Given the description of an element on the screen output the (x, y) to click on. 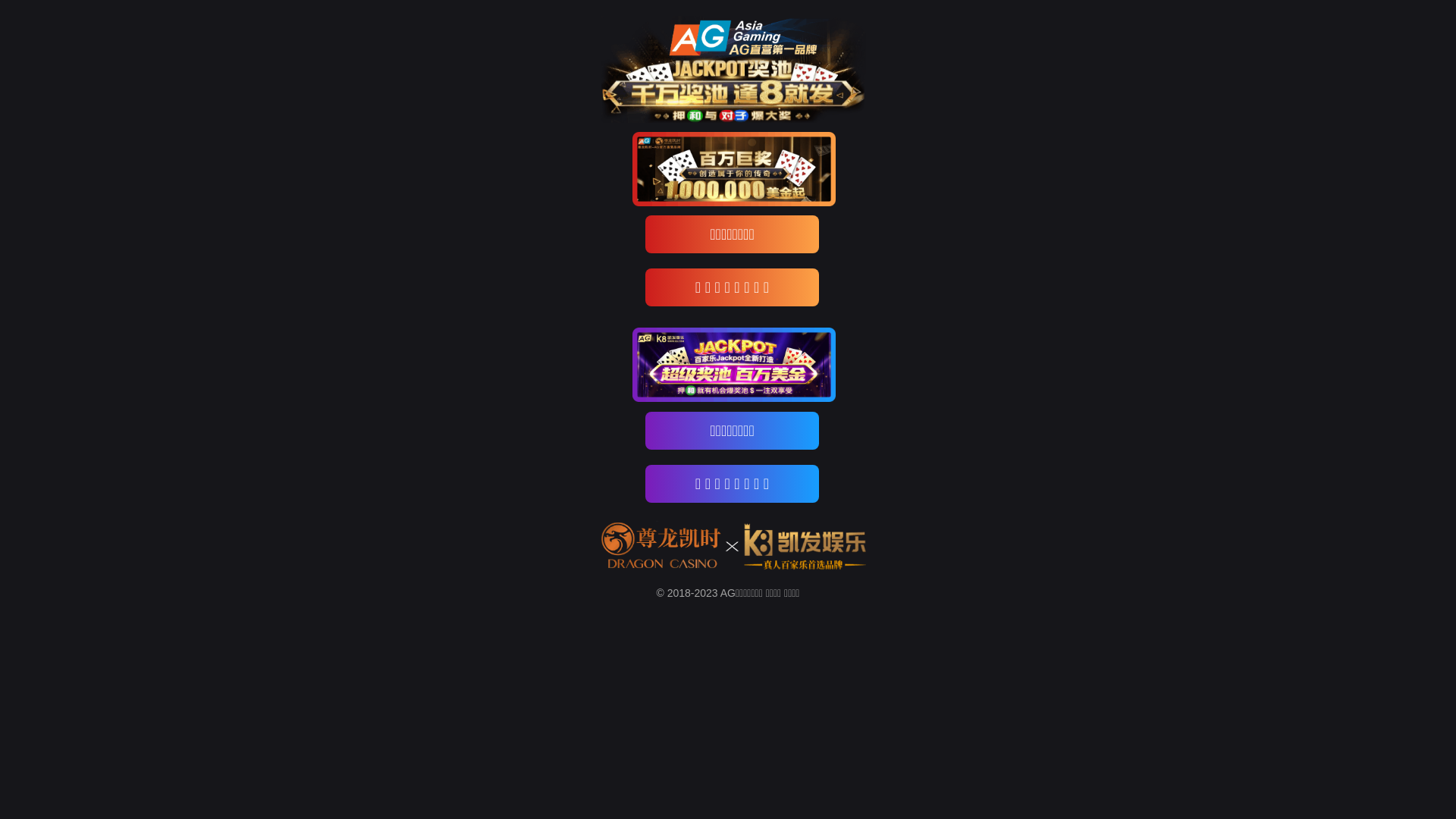
EN Element type: text (803, 104)
